Given the description of an element on the screen output the (x, y) to click on. 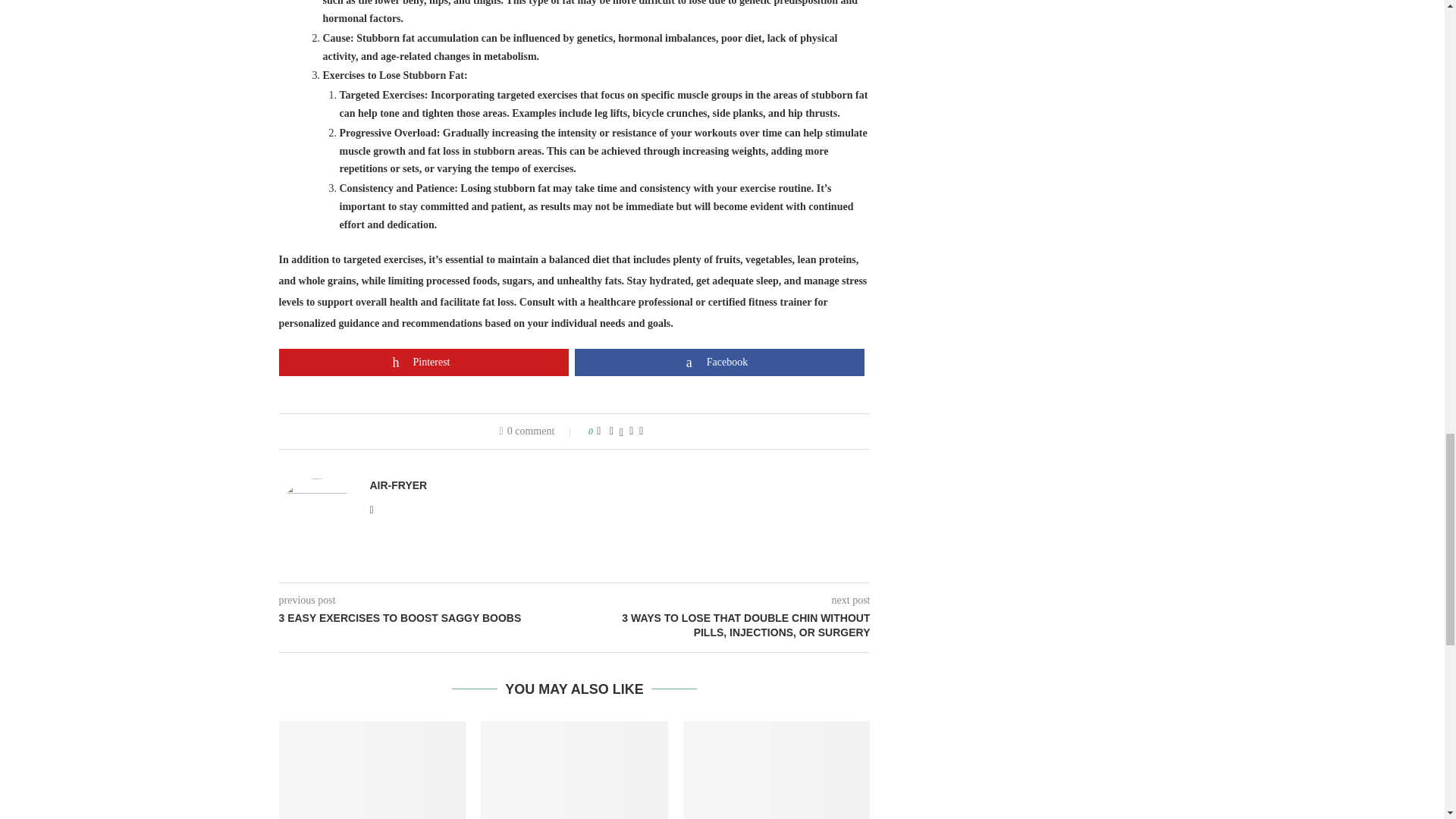
Author Air-fryer (398, 485)
Share on Facebook (719, 361)
6 Effective Exercises To Reduce Back Fat (372, 770)
3 EASY EXERCISES TO BOOST SAGGY BOOBS (427, 618)
Share on Pinterest (424, 361)
AIR-FRYER (398, 485)
Pinterest (424, 361)
Facebook (719, 361)
